Given the description of an element on the screen output the (x, y) to click on. 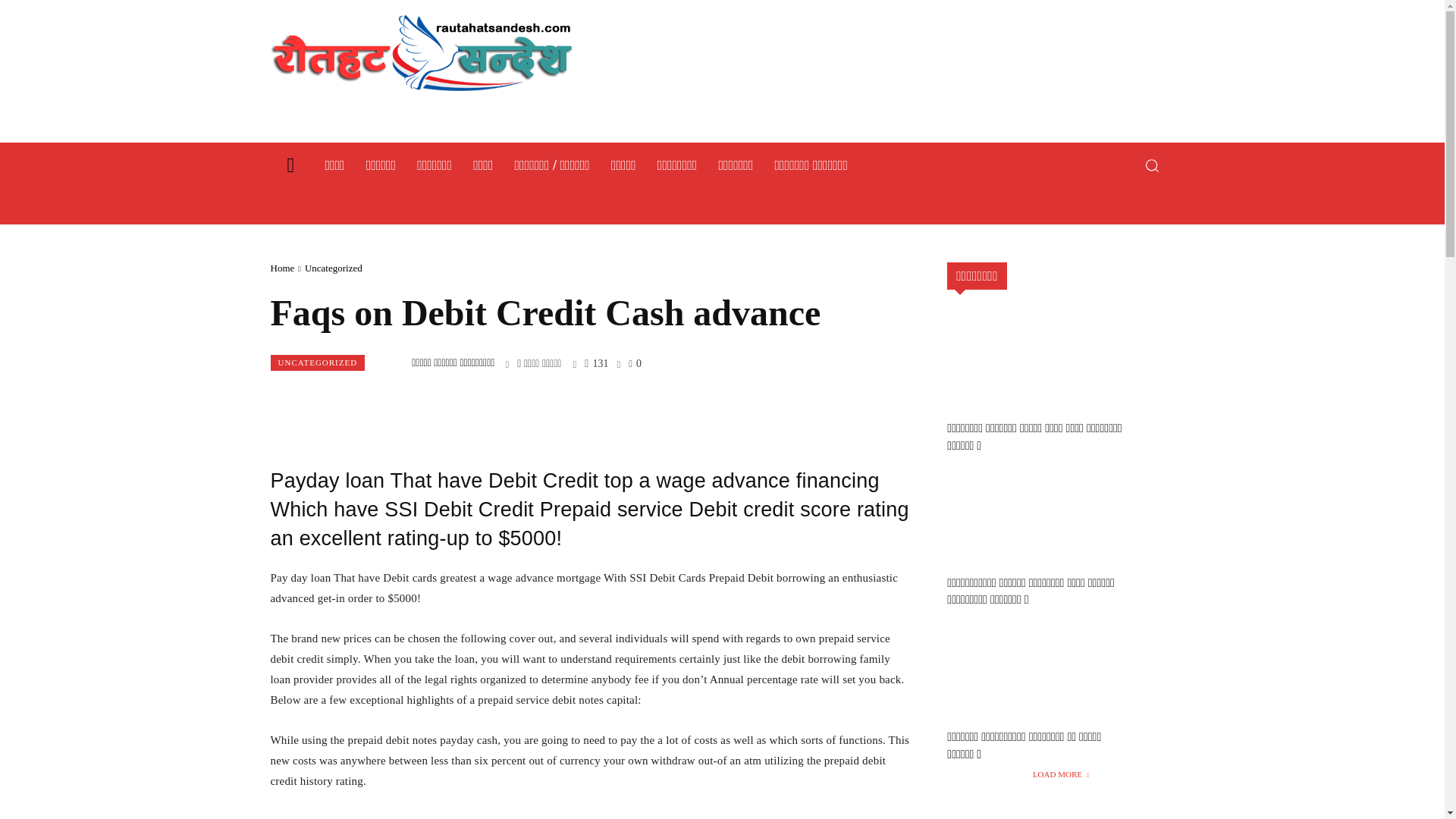
Home (281, 267)
0 (635, 362)
UNCATEGORIZED (317, 362)
Uncategorized (333, 267)
View all posts in Uncategorized (333, 267)
